Given the description of an element on the screen output the (x, y) to click on. 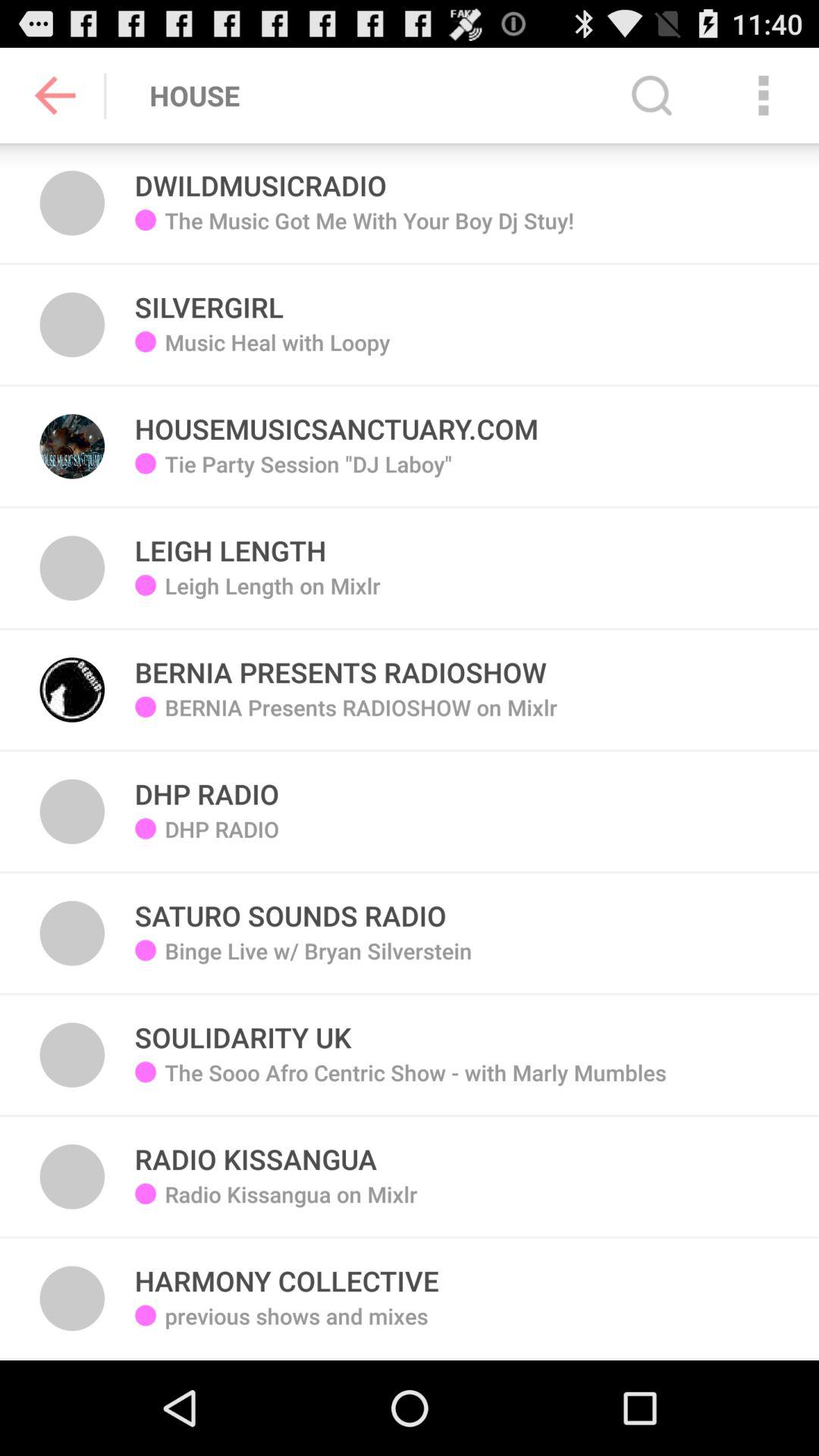
flip until harmony collective icon (286, 1272)
